Given the description of an element on the screen output the (x, y) to click on. 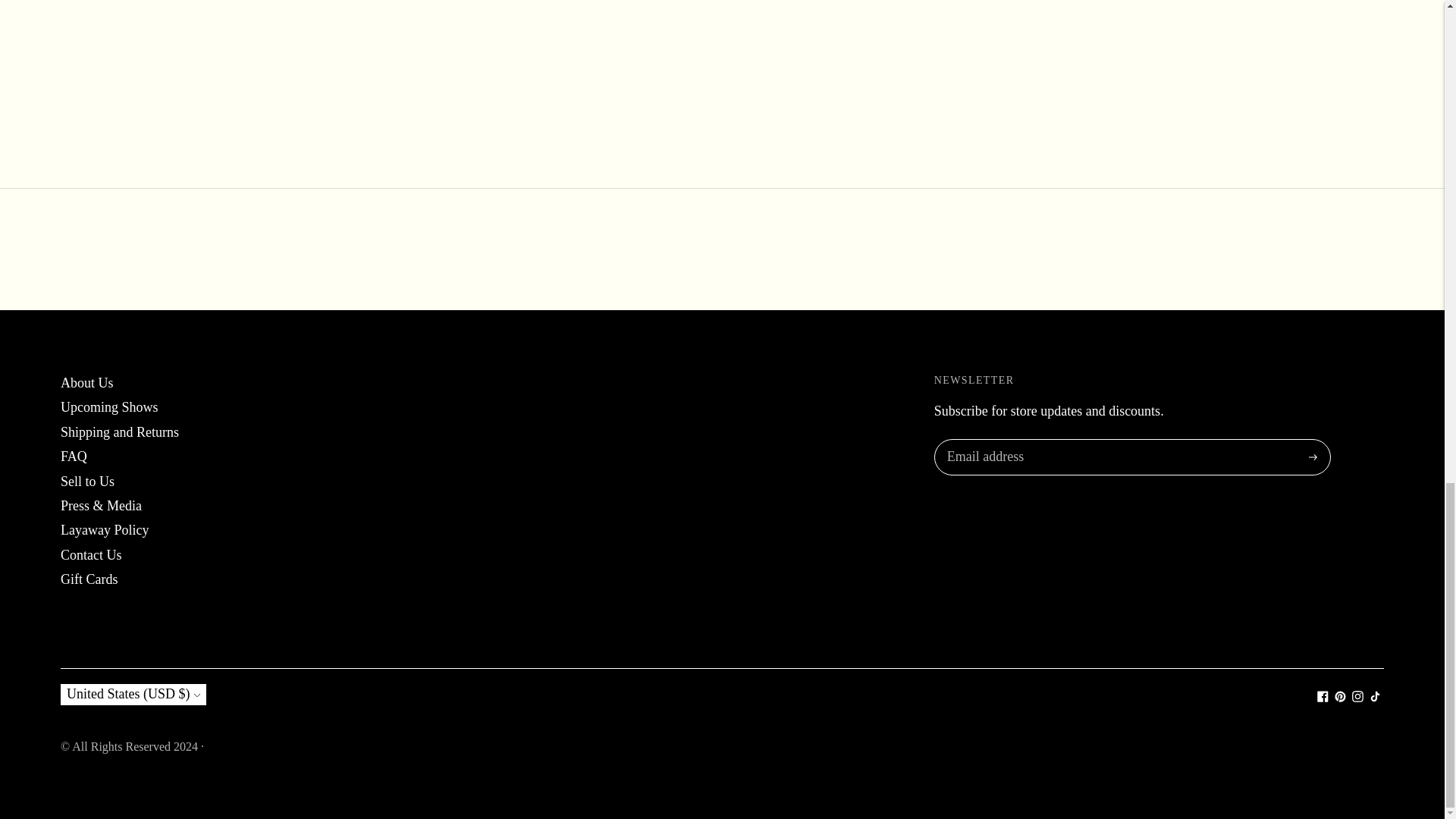
The Veiled Mirror on Facebook (1322, 697)
The Veiled Mirror on Pinterest (1340, 697)
The Veiled Mirror on Instagram (1357, 697)
The Veiled Mirror on TikTok (1375, 697)
